Given the description of an element on the screen output the (x, y) to click on. 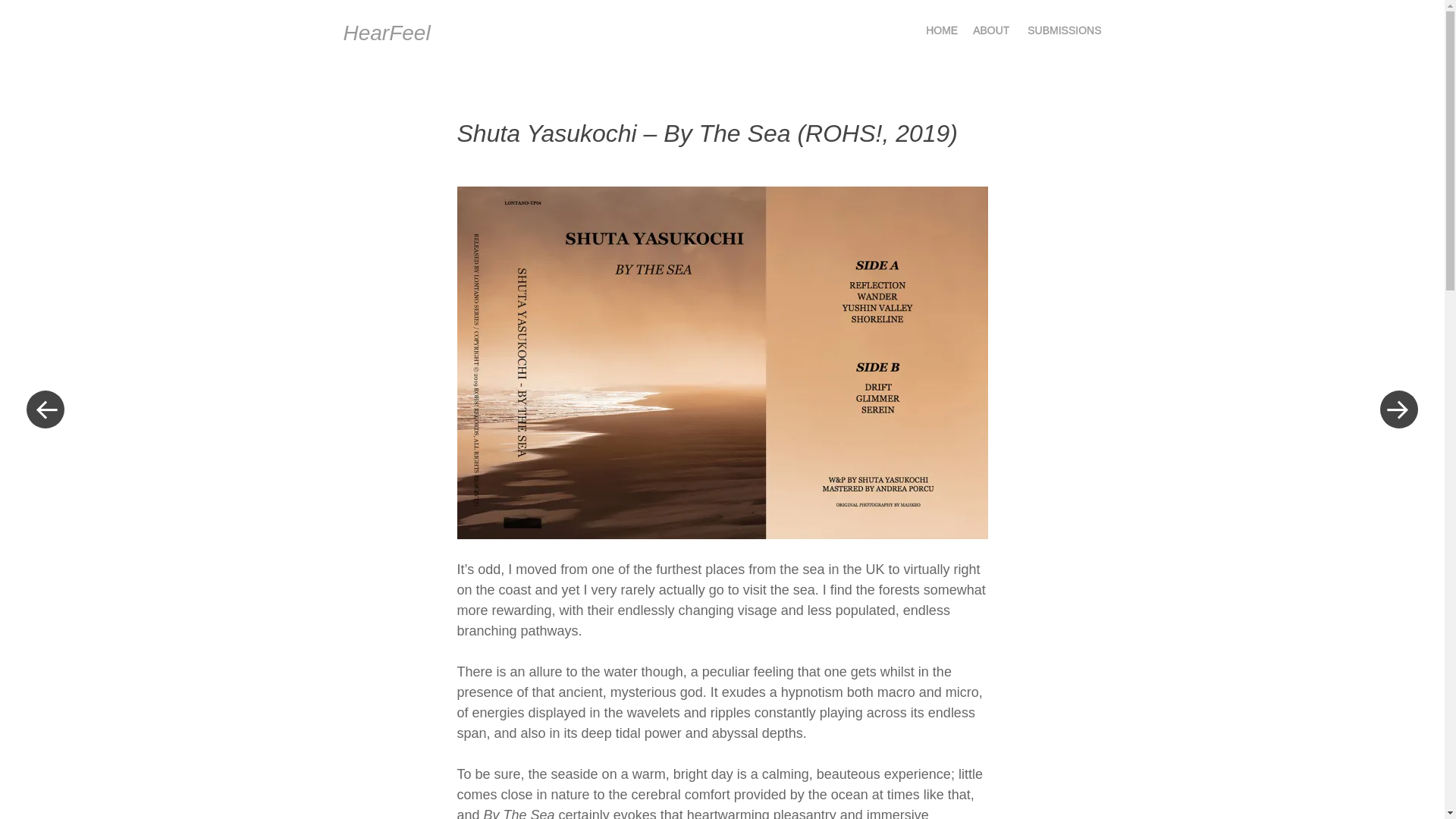
HearFeel (385, 33)
HearFeel (385, 33)
SUBMISSIONS (1063, 30)
ABOUT (990, 30)
HOME (942, 30)
